Given the description of an element on the screen output the (x, y) to click on. 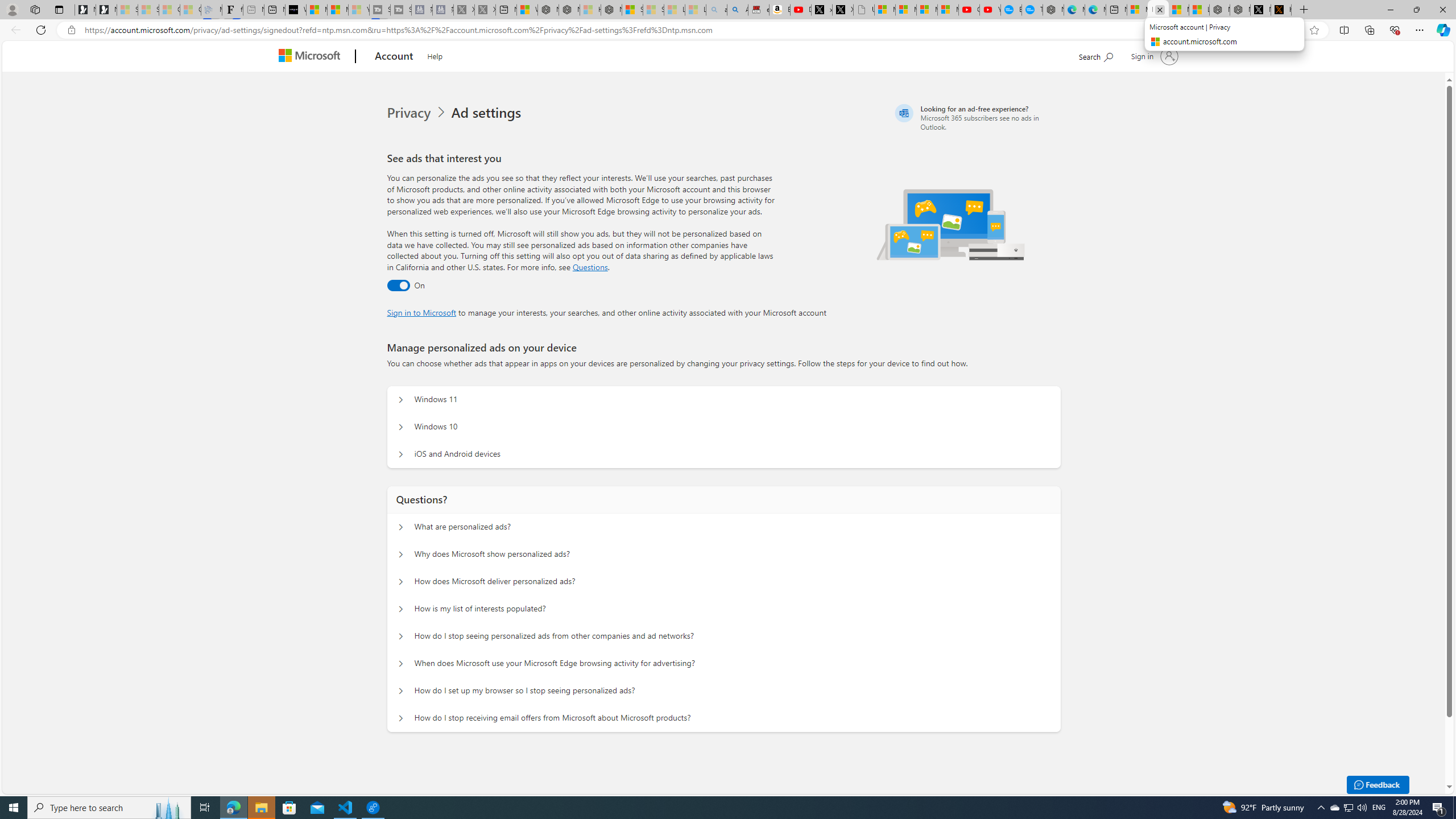
Nordace - Nordace Siena Is Not An Ordinary Backpack (610, 9)
Ad settings (488, 112)
Microsoft account | Privacy (1157, 9)
Go to Questions section (590, 266)
Sign in to Microsoft (422, 311)
The most popular Google 'how to' searches (1032, 9)
